Given the description of an element on the screen output the (x, y) to click on. 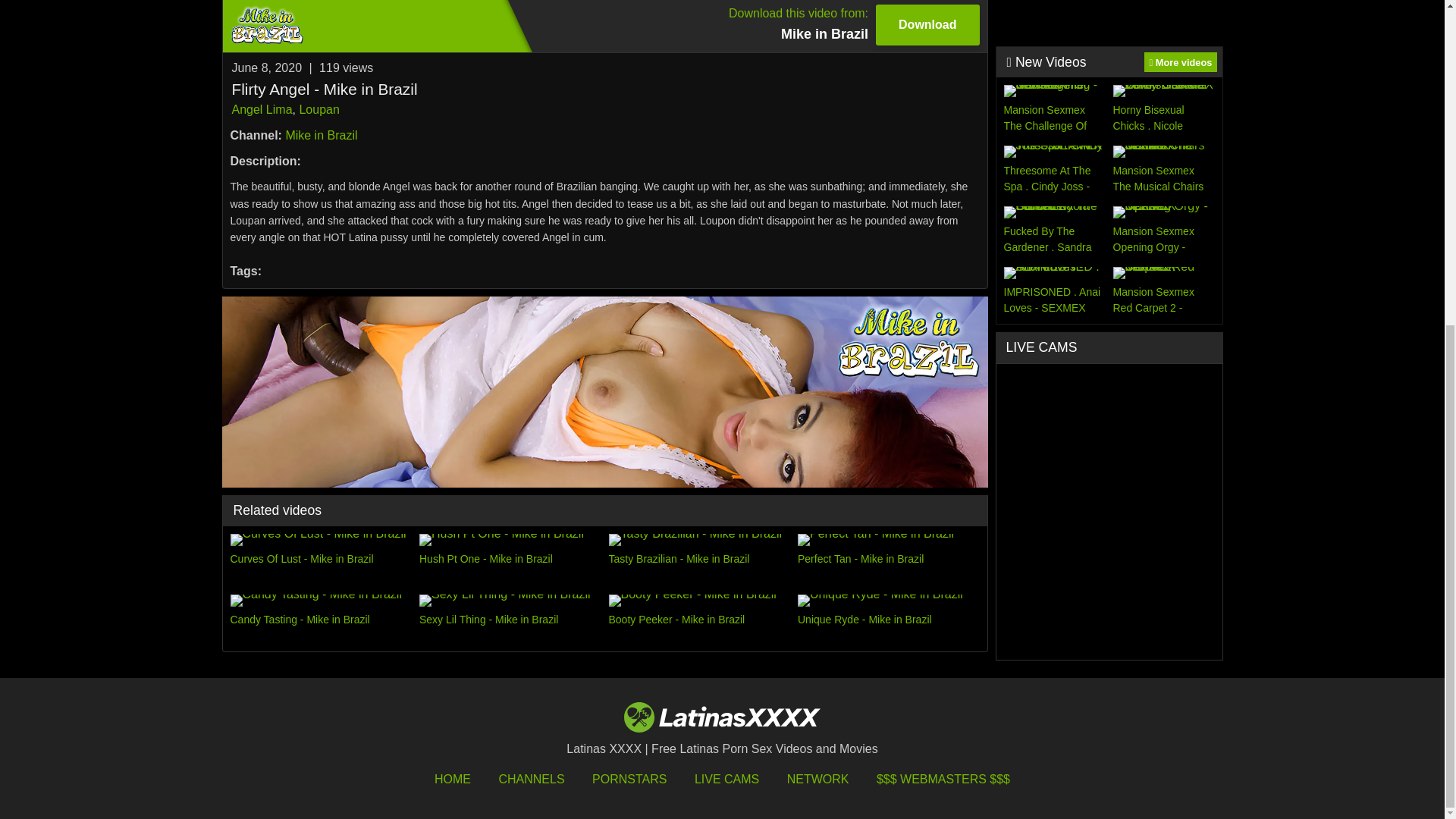
Angel Lima (261, 109)
Mike in Brazil (320, 134)
Loupan (604, 26)
